Given the description of an element on the screen output the (x, y) to click on. 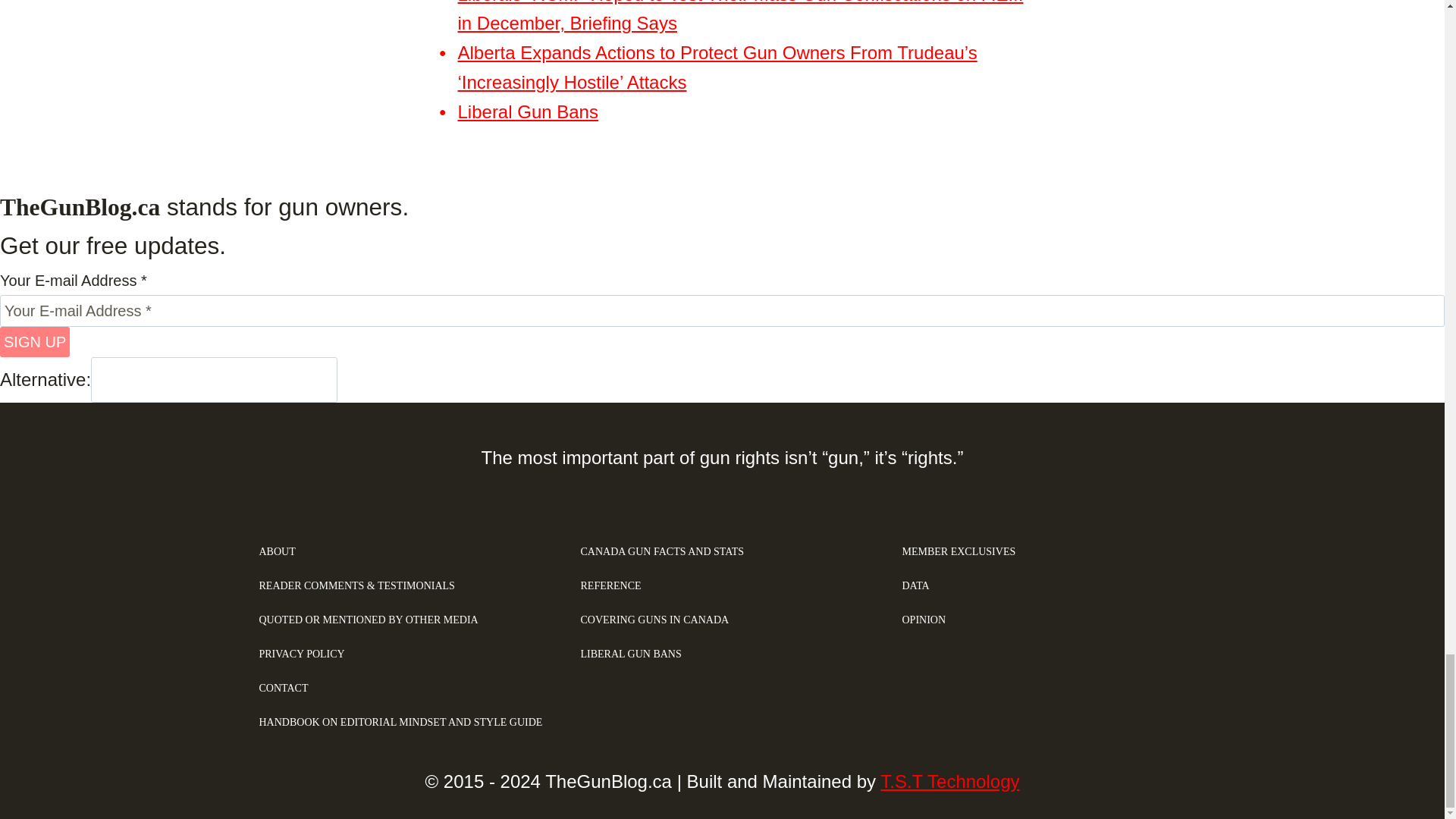
PRIVACY POLICY (400, 654)
ABOUT (400, 552)
SIGN UP (34, 341)
QUOTED OR MENTIONED BY OTHER MEDIA (400, 620)
SIGN UP (34, 341)
Liberal Gun Bans (528, 111)
